Given the description of an element on the screen output the (x, y) to click on. 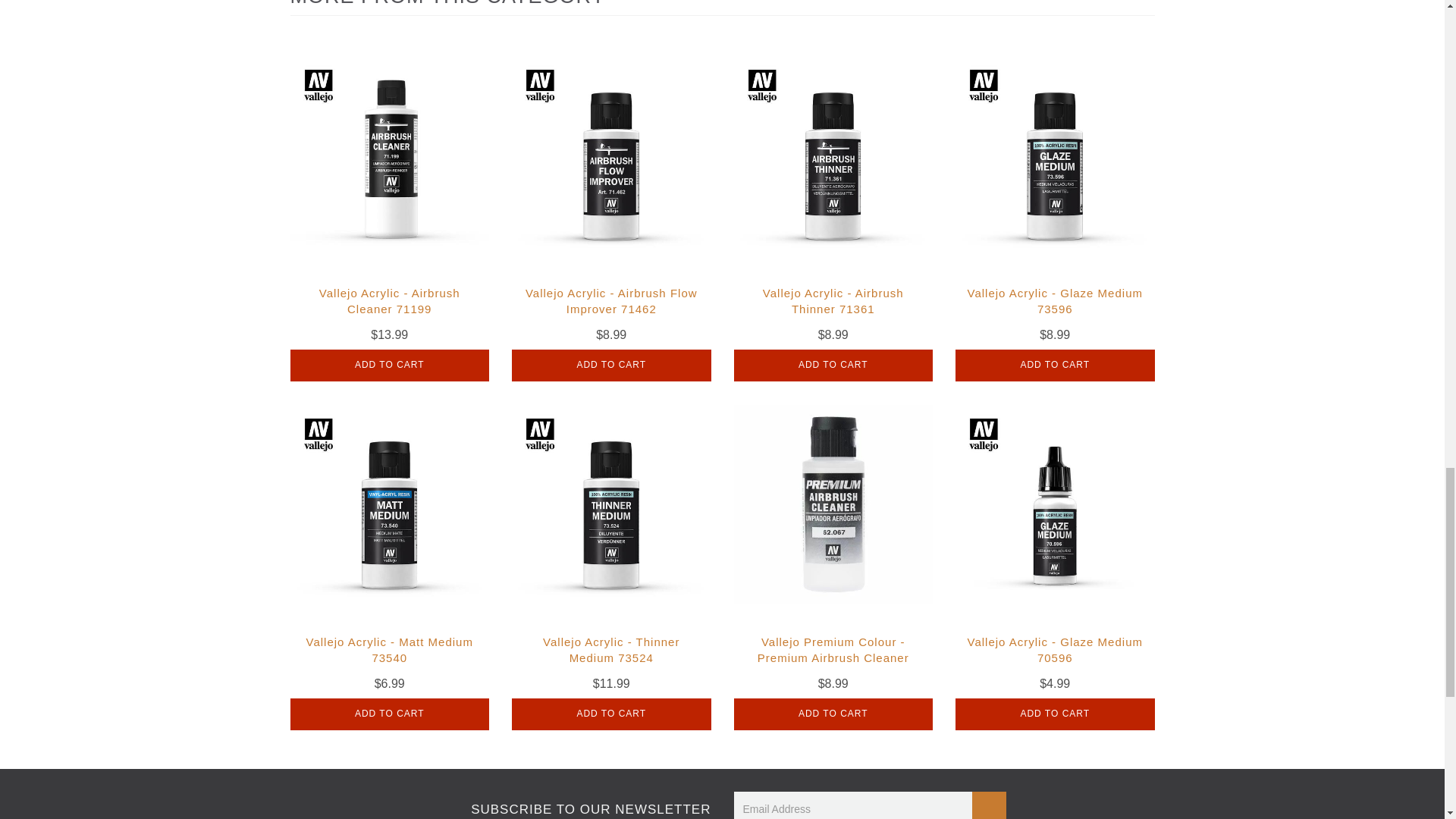
Add to Cart (611, 365)
Vallejo Acrylic - Airbrush Thinner 71361 (833, 300)
Vallejo Acrylic - Matt Medium 73540 (389, 649)
Add to Cart (611, 714)
Vallejo Acrylic - Airbrush Flow Improver 71462 (611, 300)
Vallejo Acrylic - Airbrush Cleaner 71199 (389, 300)
Vallejo Acrylic - Thinner Medium 73524 (611, 649)
Add to Cart (833, 365)
Vallejo Acrylic - Glaze Medium 73596 (1055, 300)
Add to Cart (1054, 365)
Add to Cart (389, 365)
Add to Cart (389, 714)
